Given the description of an element on the screen output the (x, y) to click on. 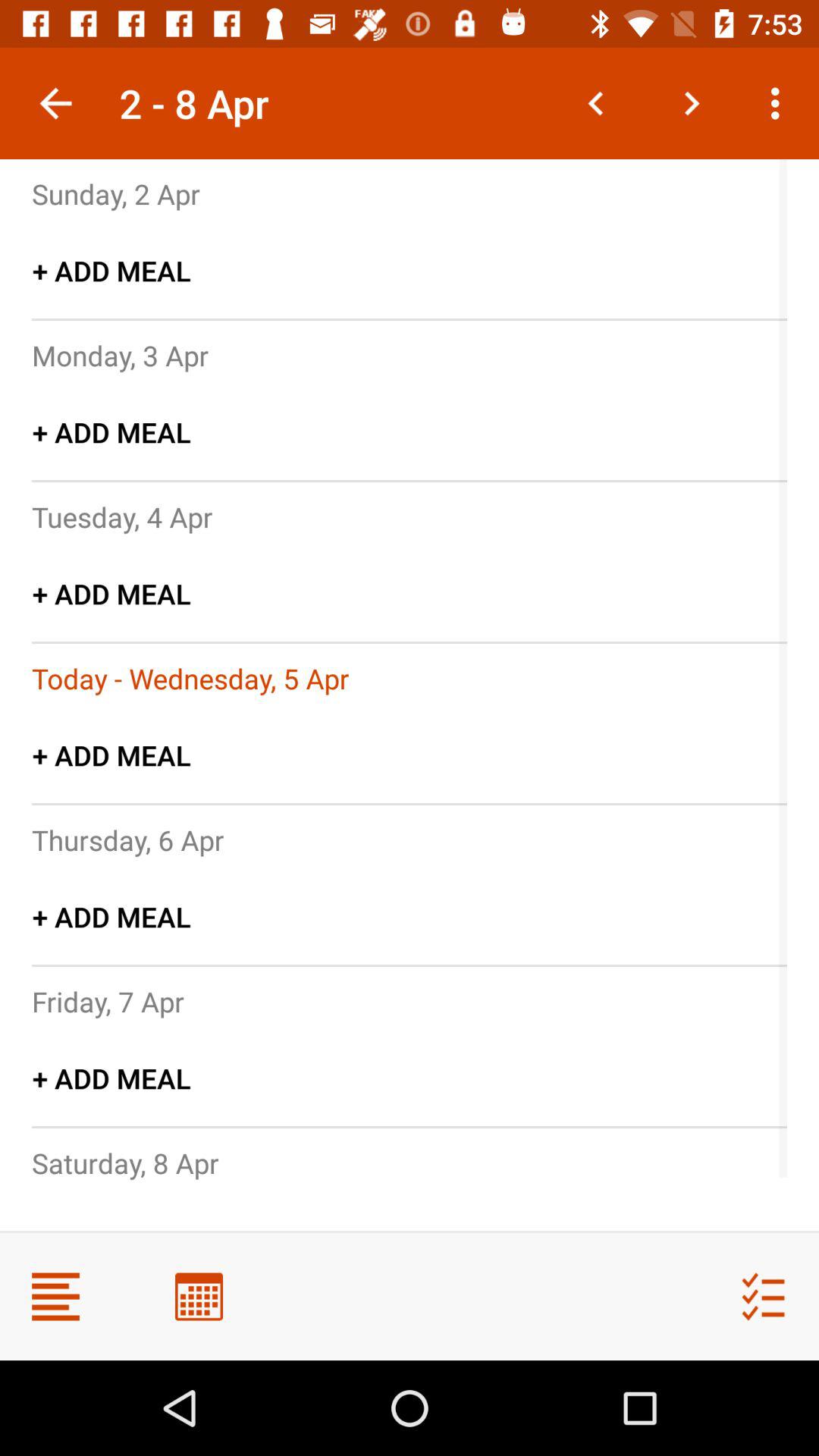
press the icon below + add meal (119, 355)
